Given the description of an element on the screen output the (x, y) to click on. 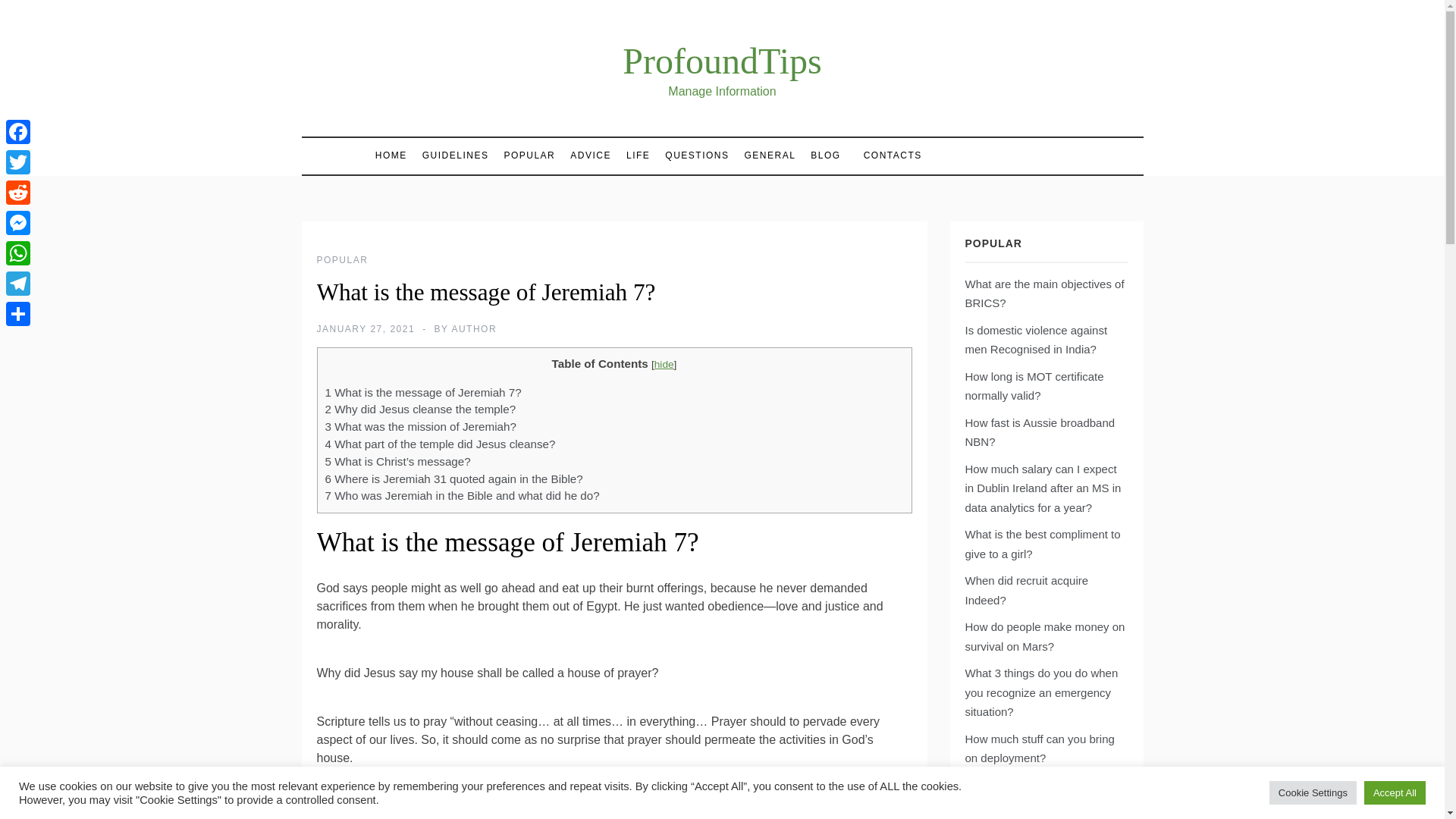
Messenger (17, 223)
How fast is Aussie broadband NBN? (1039, 432)
How much stuff can you bring on deployment? (1038, 748)
2 Why did Jesus cleanse the temple? (419, 408)
ProfoundTips (722, 60)
6 Where is Jeremiah 31 quoted again in the Bible? (453, 478)
LIFE (638, 155)
Twitter (17, 162)
1 What is the message of Jeremiah 7? (422, 391)
POPULAR (342, 259)
When did recruit acquire Indeed? (1025, 590)
How do people make money on survival on Mars? (1043, 635)
7 Who was Jeremiah in the Bible and what did he do? (461, 495)
GUIDELINES (455, 155)
QUESTIONS (697, 155)
